Given the description of an element on the screen output the (x, y) to click on. 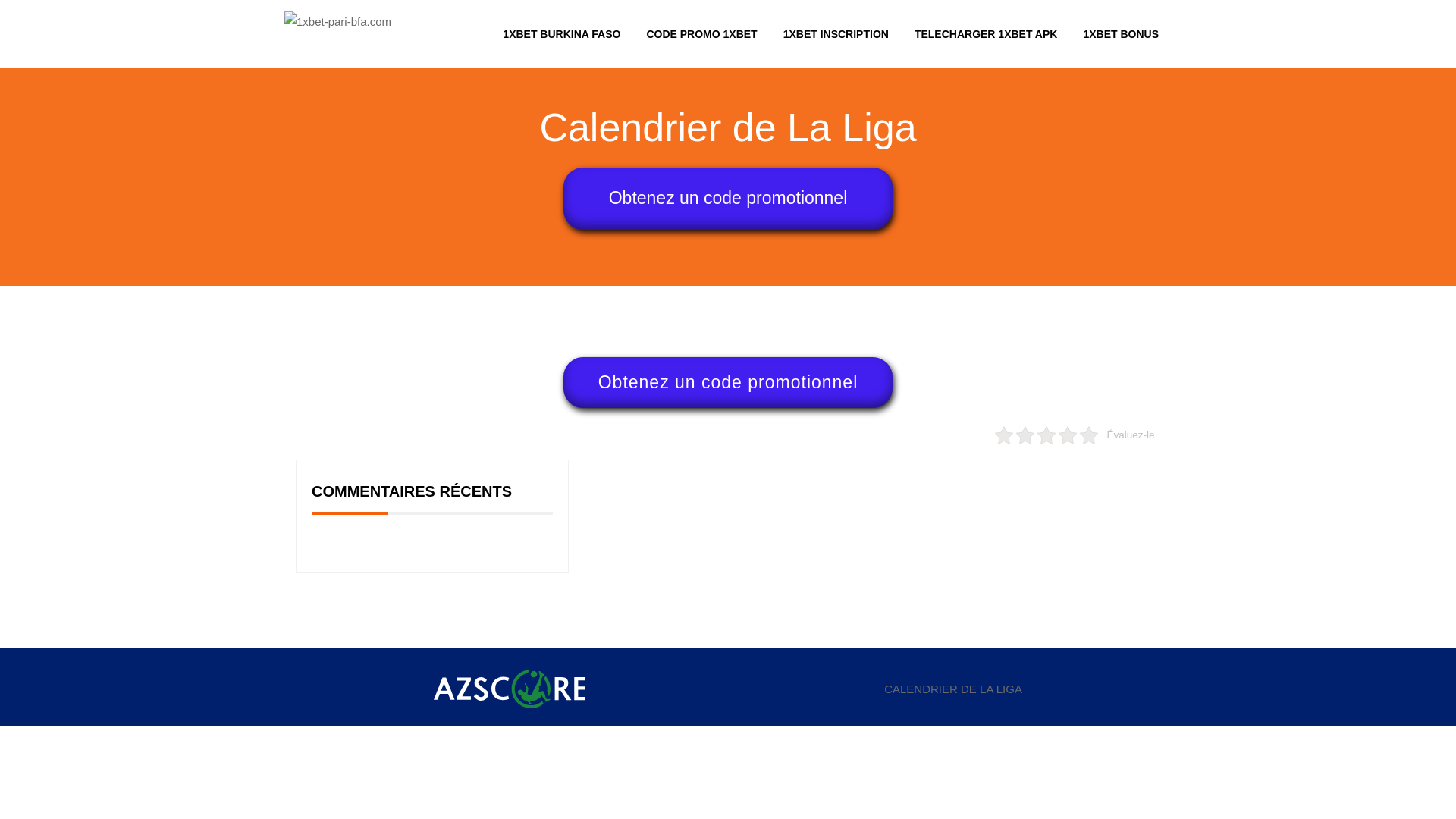
TELECHARGER 1XBET APK Element type: text (985, 34)
1XBET BONUS Element type: text (1120, 34)
1XBET BURKINA FASO Element type: text (567, 34)
Obtenez un code promotionnel Element type: text (727, 382)
1XBET INSCRIPTION Element type: text (835, 34)
CODE PROMO 1XBET Element type: text (701, 34)
Obtenez un code promotionnel Element type: text (727, 198)
CALENDRIER DE LA LIGA Element type: text (953, 688)
